Given the description of an element on the screen output the (x, y) to click on. 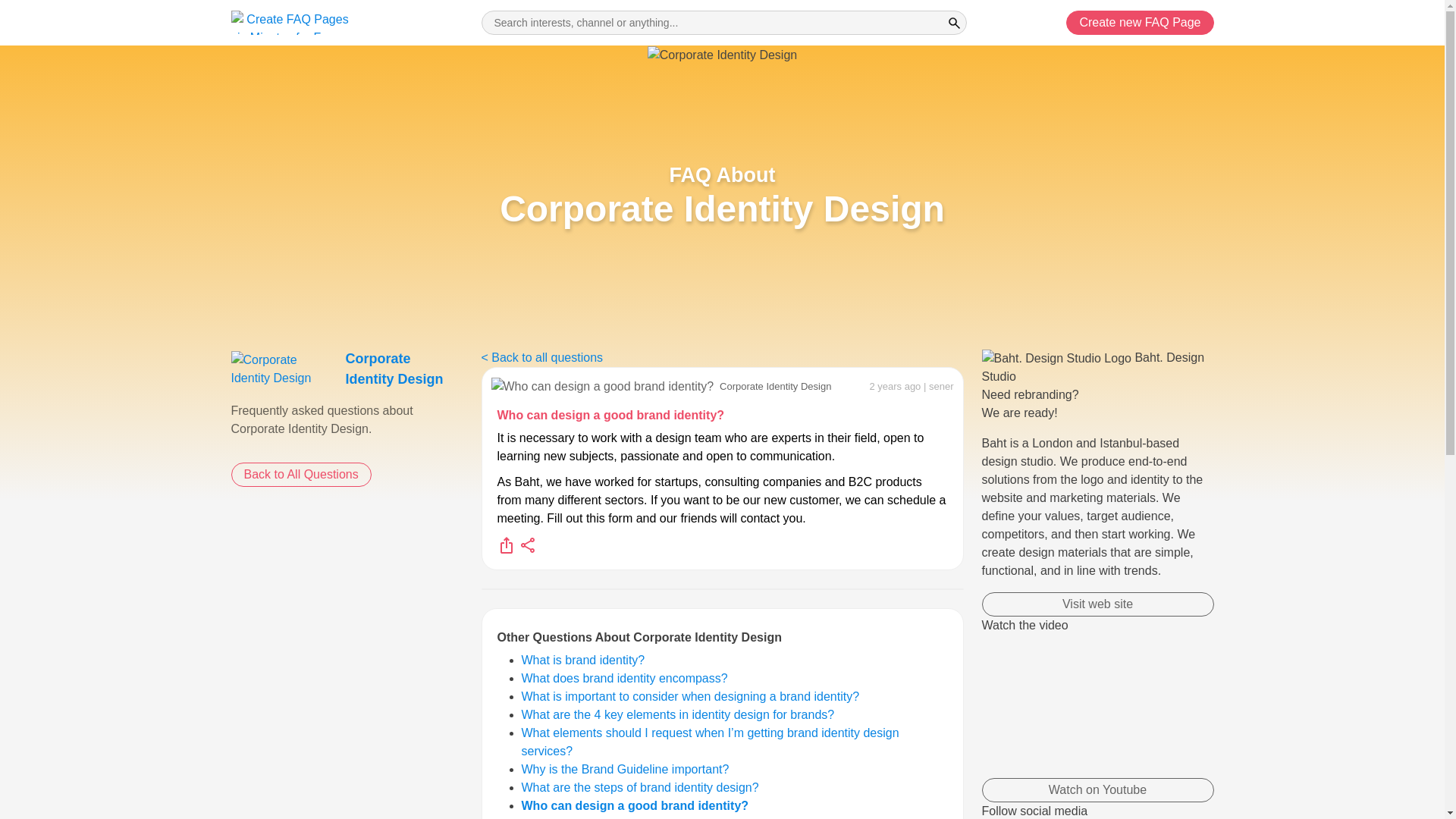
What are the 4 key elements in identity design for brands? (677, 714)
Who can design a good brand identity? (677, 714)
Corporate Identity Design (611, 414)
Corporate Identity Design (395, 368)
Search interests, channel or anything... (283, 369)
Back to All Questions (723, 22)
Back to all questions (300, 474)
What does brand identity encompass? (541, 357)
What are the steps of brand identity design? (624, 677)
Create new FAQ Page (639, 787)
Watch on Youtube (1138, 22)
Create new FAQ Page (1096, 790)
Back to All Questions (1138, 22)
